Given the description of an element on the screen output the (x, y) to click on. 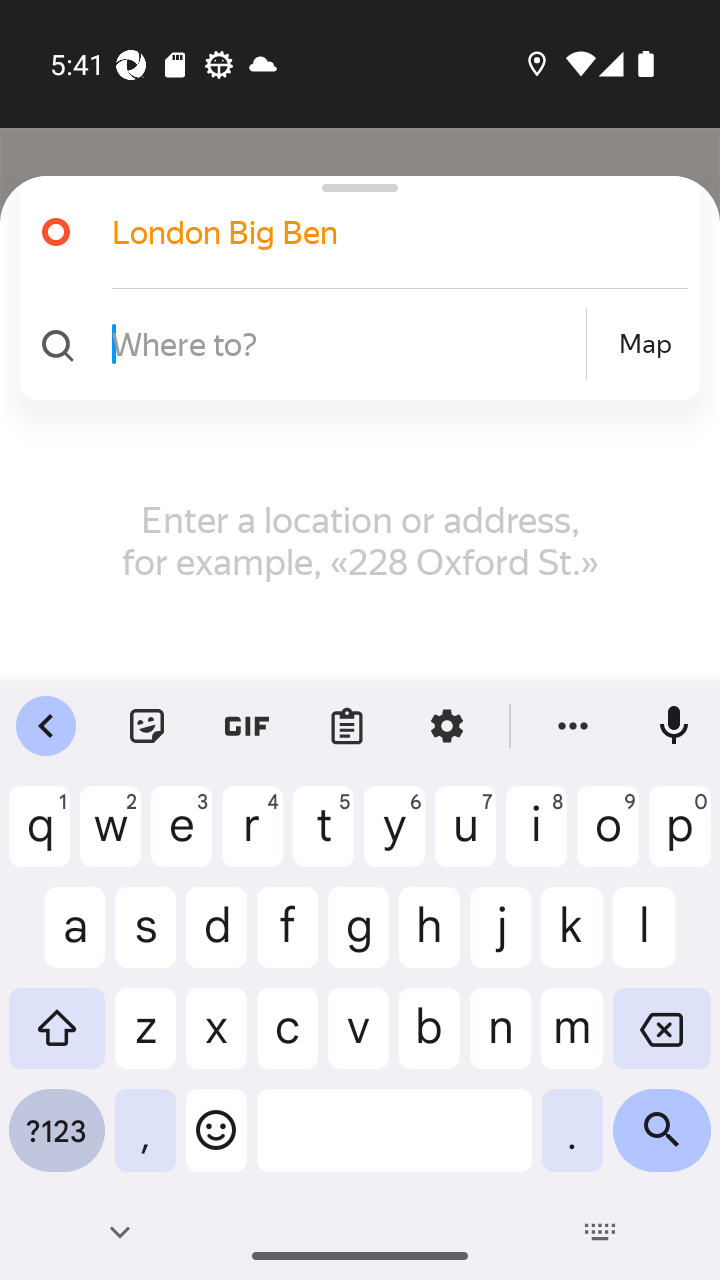
London Big Ben (352, 232)
London Big Ben (373, 232)
Where to? Map Map (352, 343)
Map (645, 343)
Where to? (346, 343)
